Given the description of an element on the screen output the (x, y) to click on. 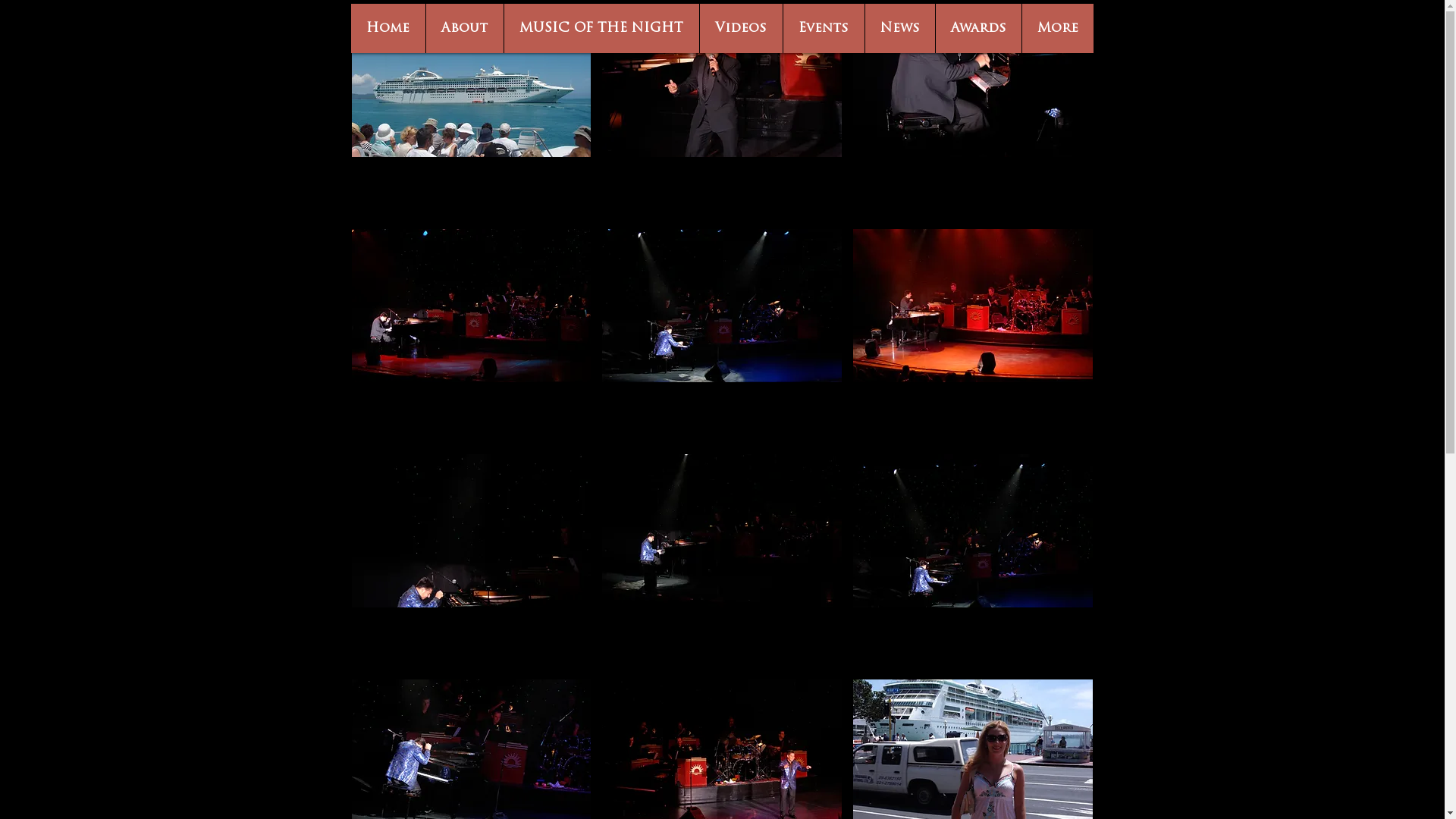
News Element type: text (899, 28)
Home Element type: text (387, 28)
Events Element type: text (823, 28)
MUSIC OF THE NIGHT Element type: text (601, 28)
About Element type: text (463, 28)
Awards Element type: text (977, 28)
Videos Element type: text (740, 28)
